Given the description of an element on the screen output the (x, y) to click on. 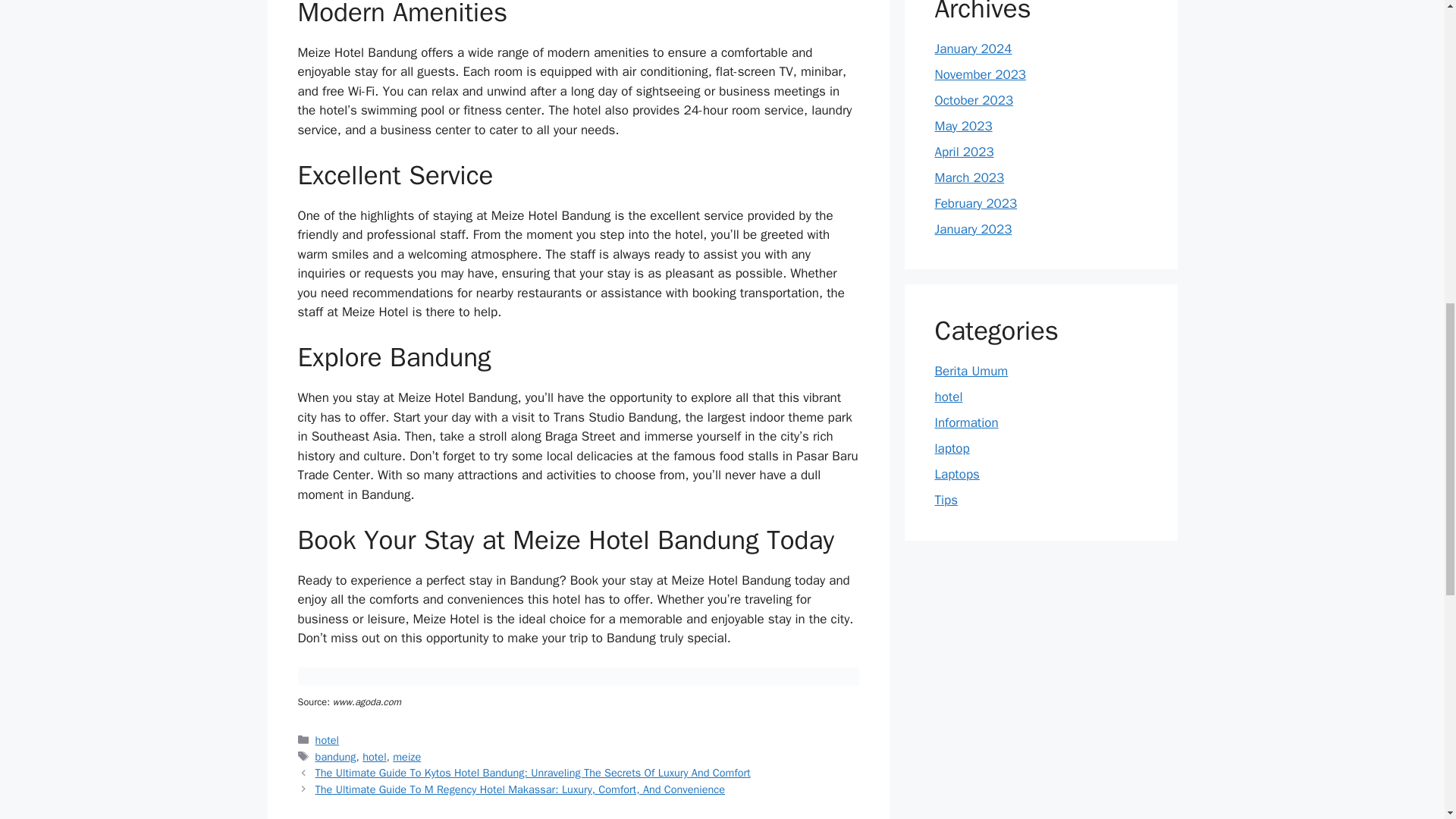
hotel (327, 739)
November 2023 (980, 74)
January 2023 (972, 229)
March 2023 (969, 177)
Laptops (956, 474)
May 2023 (962, 125)
hotel (948, 396)
Information (965, 422)
January 2024 (972, 48)
Tips (946, 499)
meize (406, 756)
October 2023 (973, 100)
laptop (951, 448)
April 2023 (963, 151)
